Given the description of an element on the screen output the (x, y) to click on. 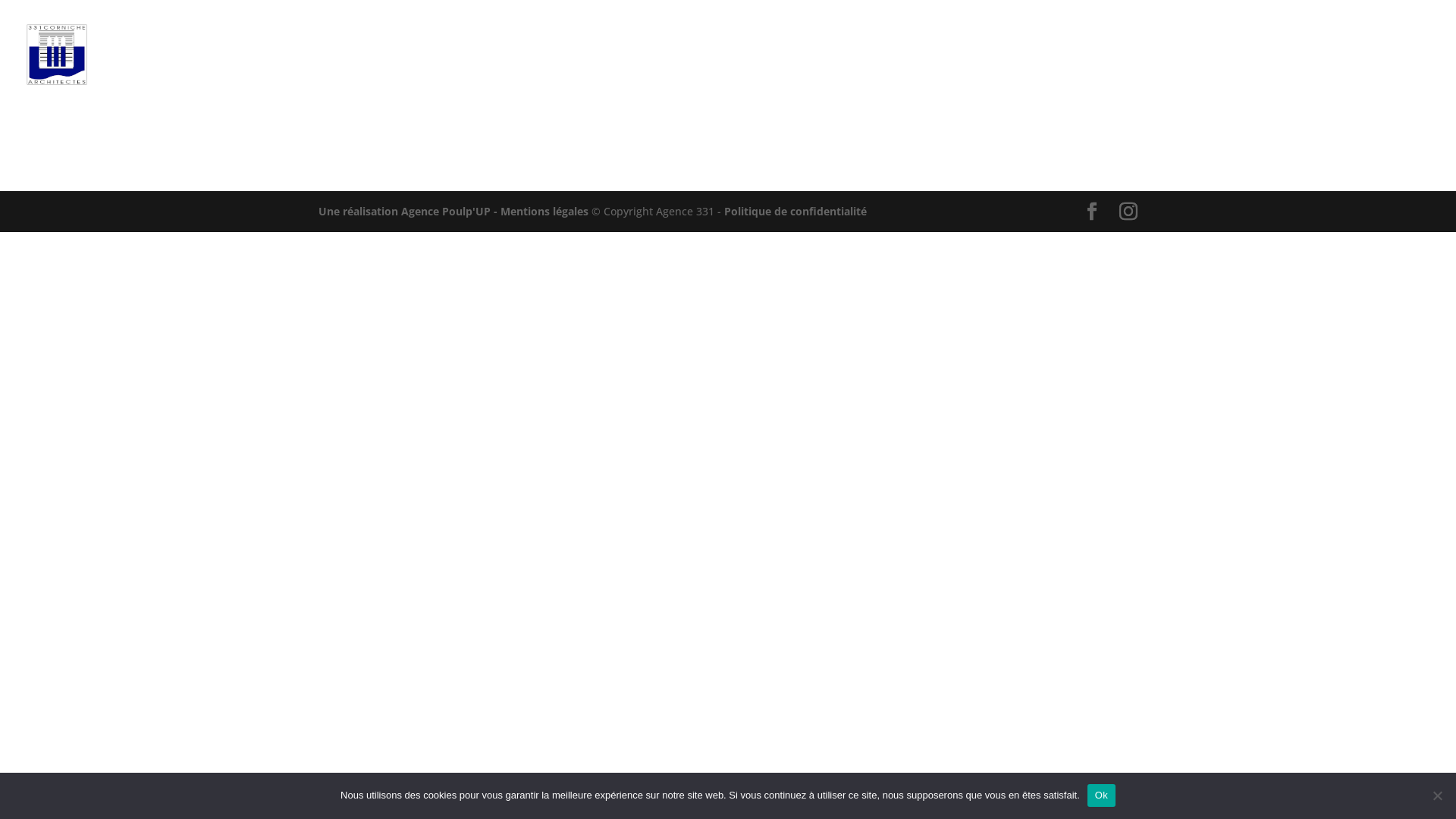
CONTACT Element type: text (1392, 79)
Ok Element type: text (1101, 795)
NOS PROJETS Element type: text (961, 79)
Non Element type: hover (1436, 795)
